Given the description of an element on the screen output the (x, y) to click on. 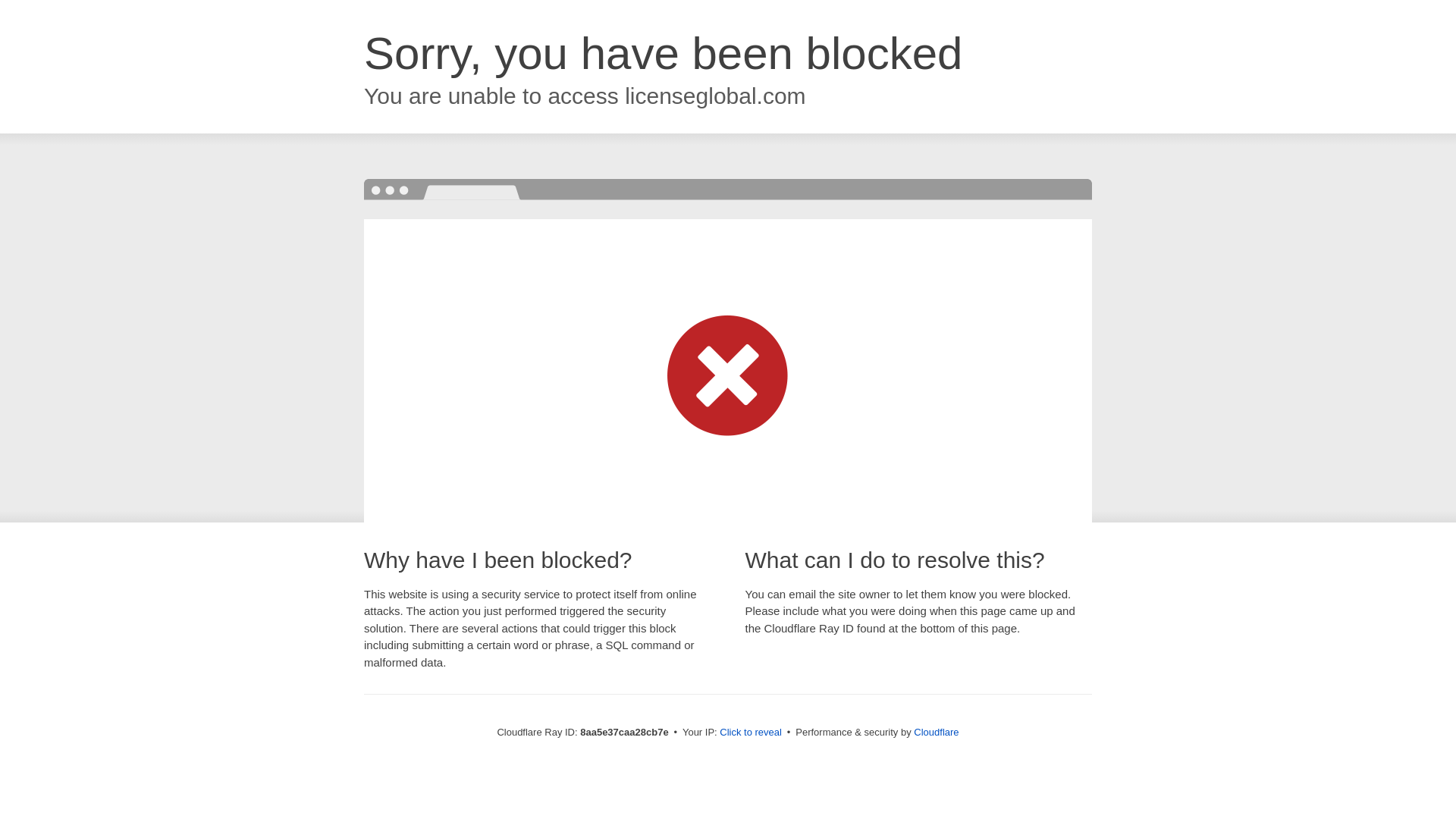
Cloudflare (936, 731)
Click to reveal (750, 732)
